Given the description of an element on the screen output the (x, y) to click on. 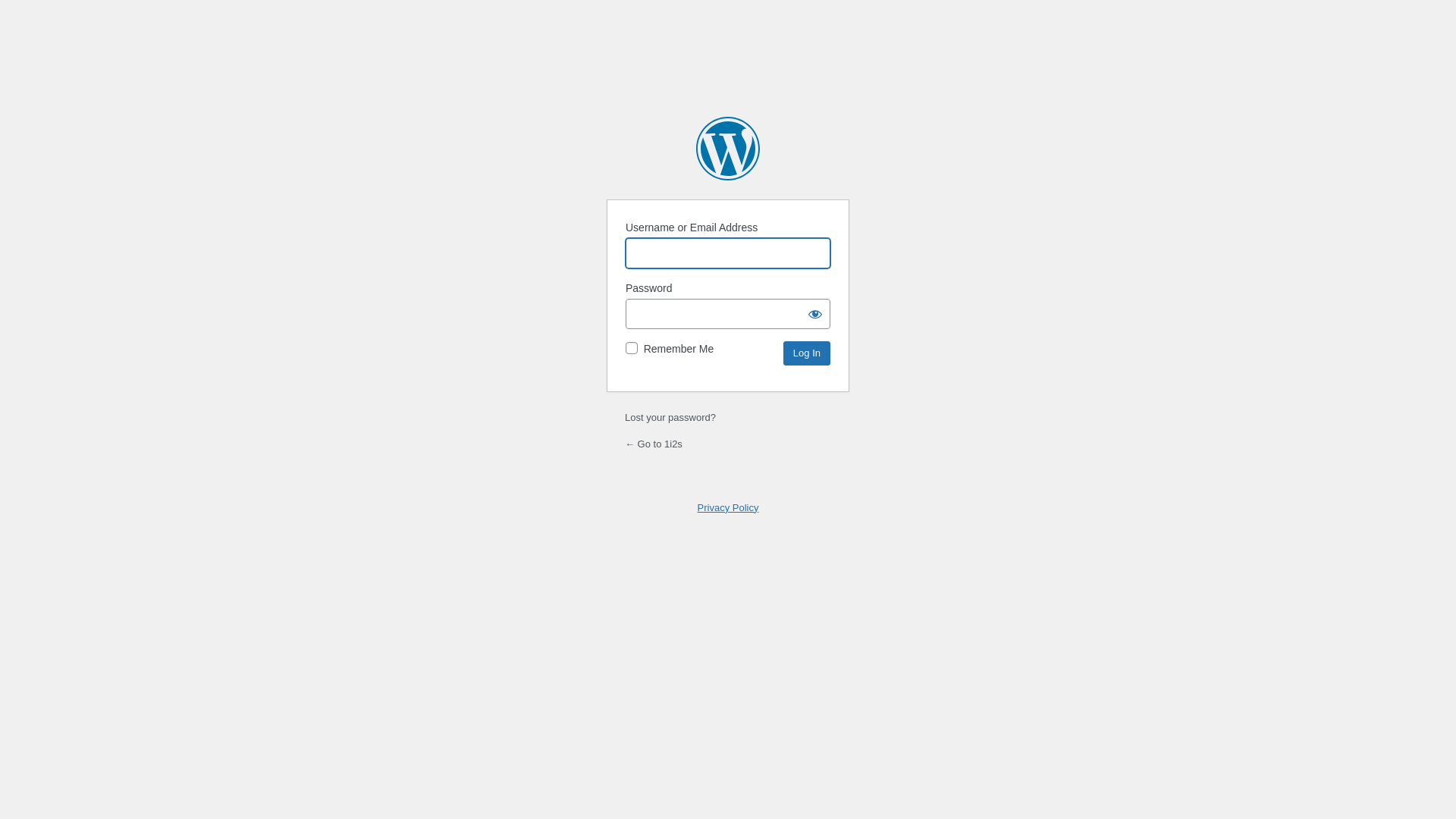
Log In Element type: text (806, 353)
Powered by WordPress Element type: text (727, 148)
Privacy Policy Element type: text (728, 507)
Lost your password? Element type: text (669, 417)
